Given the description of an element on the screen output the (x, y) to click on. 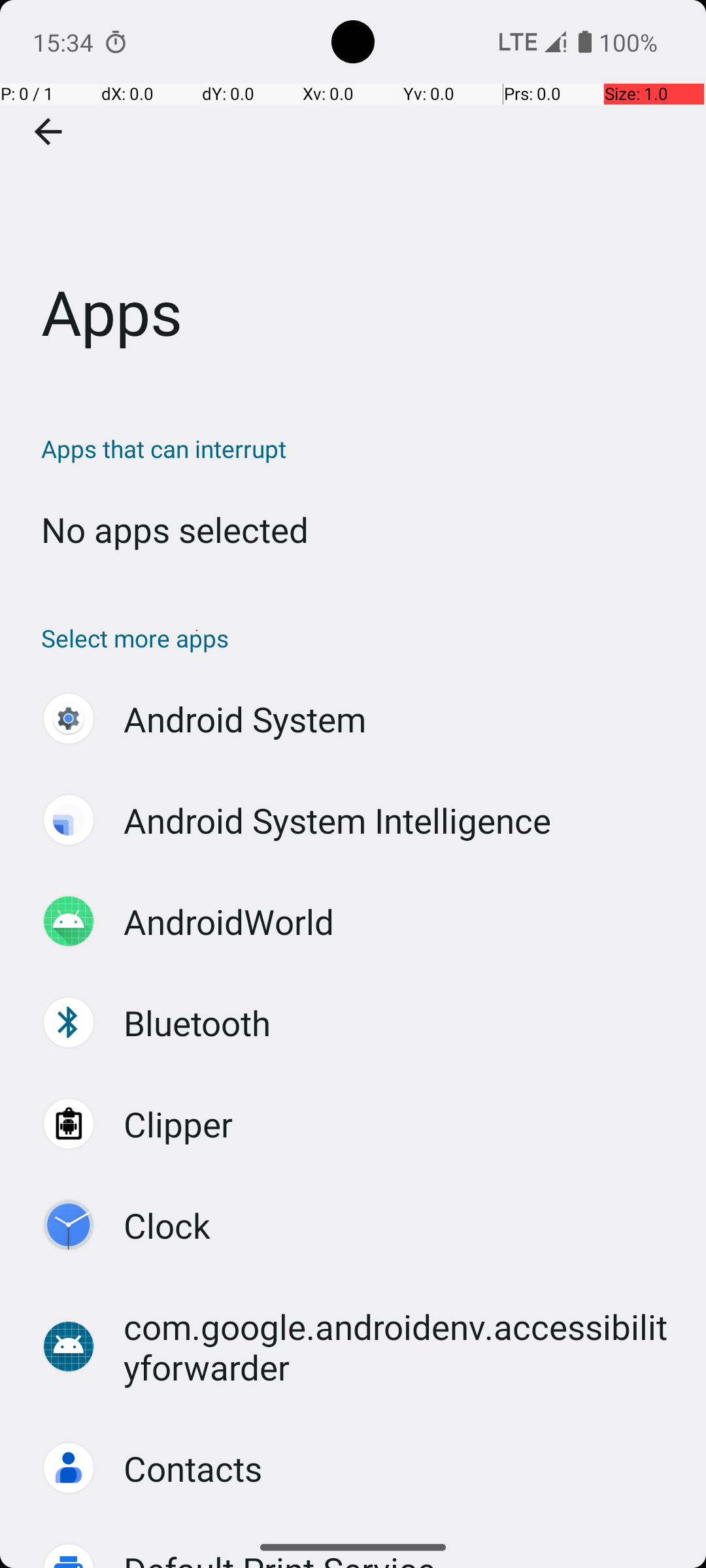
Apps that can interrupt Element type: android.widget.TextView (359, 448)
No apps selected Element type: android.widget.TextView (174, 529)
Select more apps Element type: android.widget.TextView (359, 637)
Android System Element type: android.widget.TextView (244, 718)
Android System Intelligence Element type: android.widget.TextView (337, 820)
AndroidWorld Element type: android.widget.TextView (228, 921)
Bluetooth Element type: android.widget.TextView (197, 1022)
Clipper Element type: android.widget.TextView (177, 1123)
com.google.androidenv.accessibilityforwarder Element type: android.widget.TextView (400, 1346)
